Given the description of an element on the screen output the (x, y) to click on. 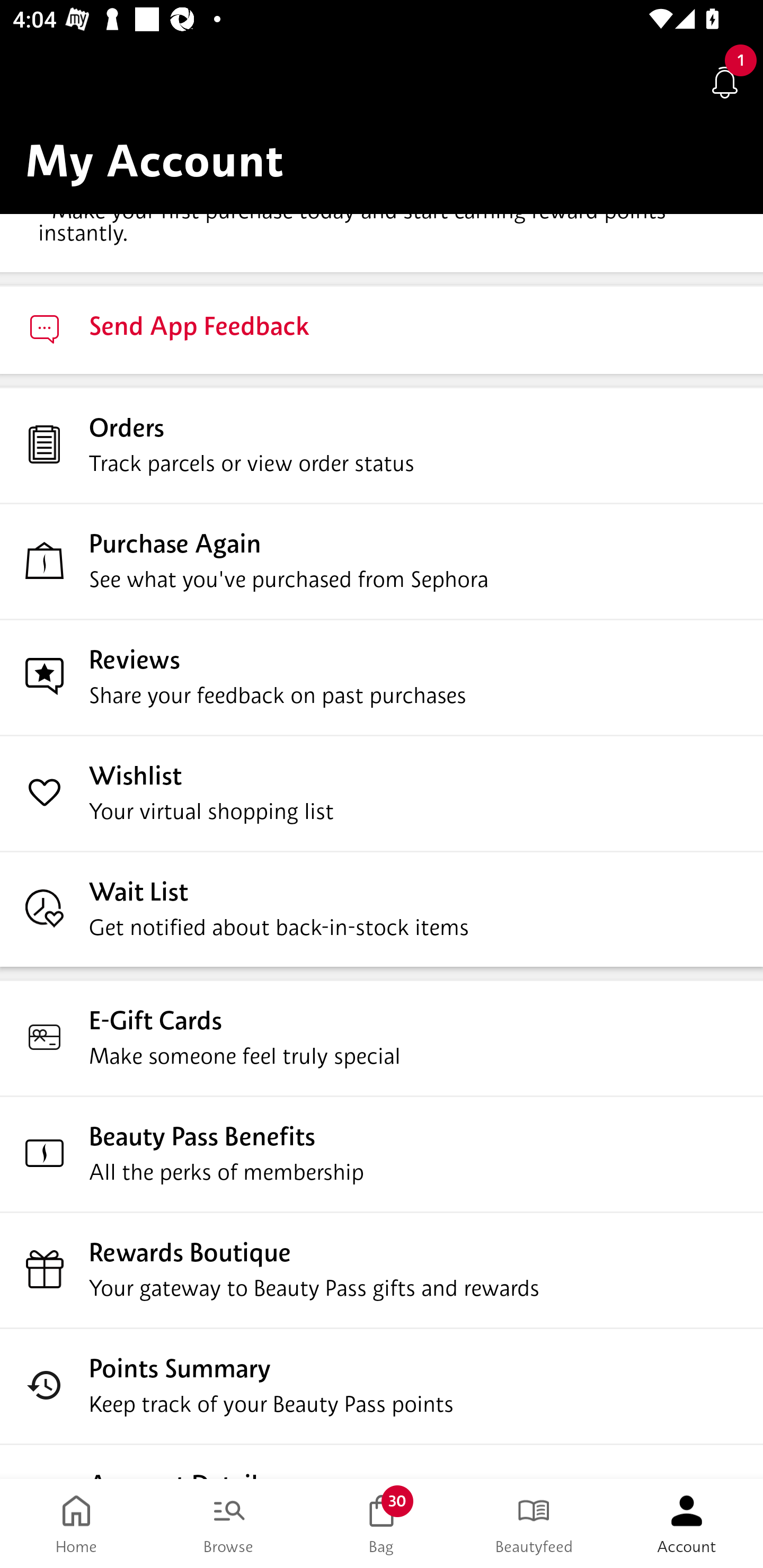
Notifications (724, 81)
Send App Feedback (381, 329)
Orders Track parcels or view order status (381, 445)
Reviews Share your feedback on past purchases (381, 677)
Wishlist Your virtual shopping list (381, 793)
Wait List Get notified about back-in-stock items (381, 909)
E-Gift Cards Make someone feel truly special (381, 1038)
Beauty Pass Benefits All the perks of membership (381, 1154)
Home (76, 1523)
Browse (228, 1523)
Bag 30 Bag (381, 1523)
Beautyfeed (533, 1523)
